Given the description of an element on the screen output the (x, y) to click on. 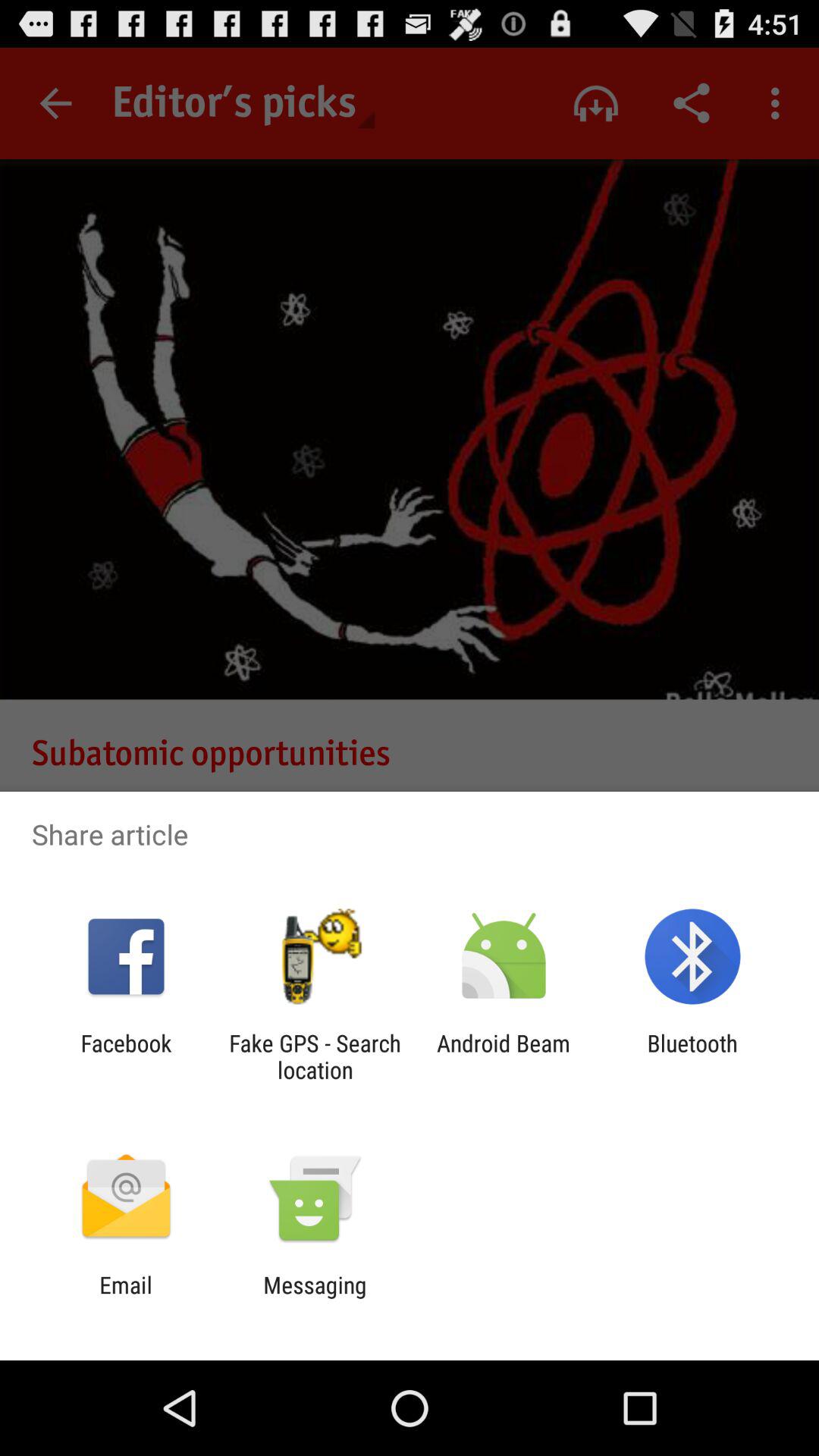
scroll until the email app (125, 1298)
